Given the description of an element on the screen output the (x, y) to click on. 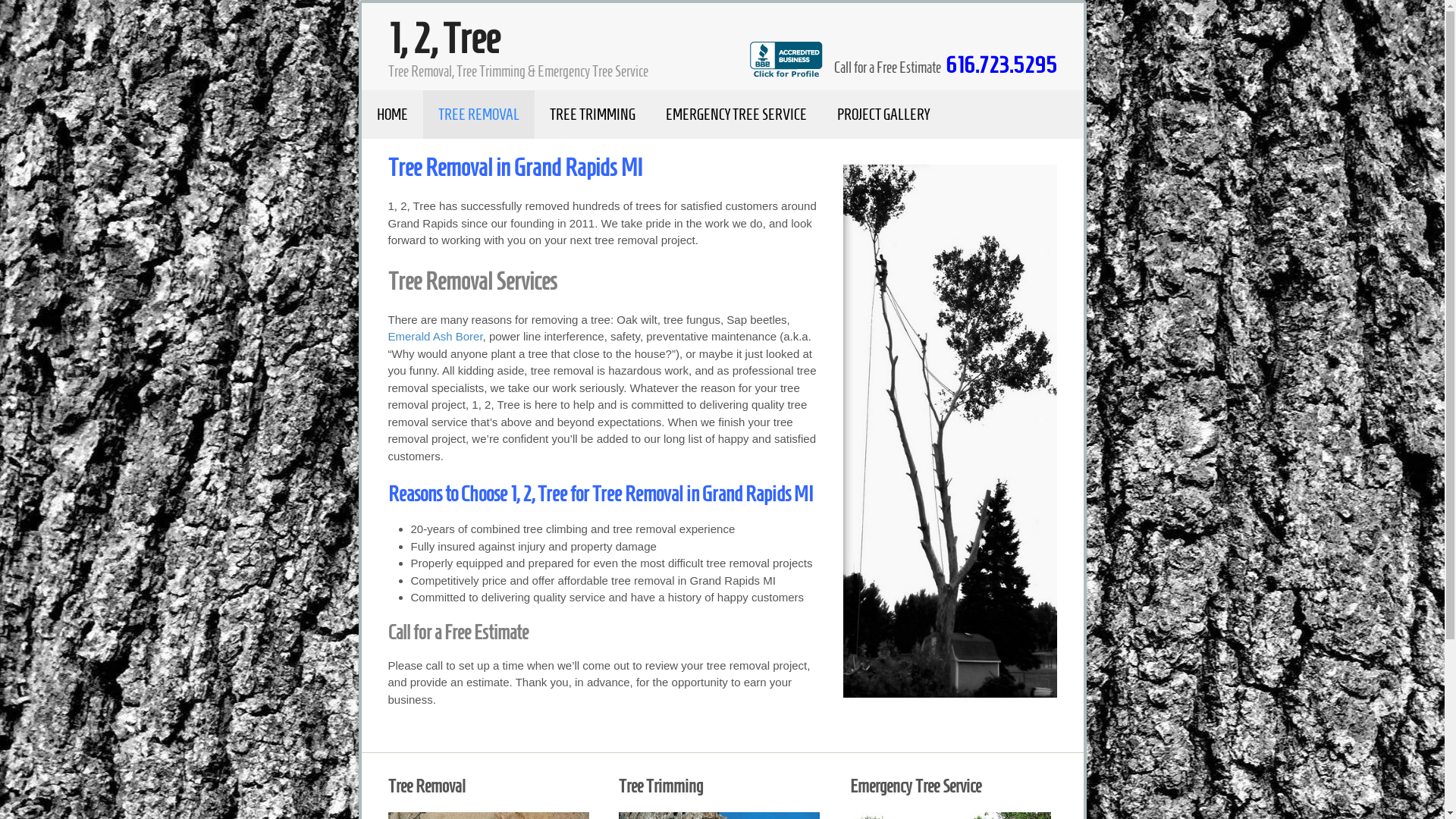
PROJECT GALLERY Element type: text (883, 114)
1, 2, Tree Element type: text (443, 38)
HOME Element type: text (391, 114)
BBB Review of 1, 2, Tree in Grand Rapids MI Element type: hover (791, 67)
TREE TRIMMING Element type: text (591, 114)
TREE REMOVAL Element type: text (478, 114)
EMERGENCY TREE SERVICE Element type: text (736, 114)
Emerald Ash Borer Element type: text (435, 335)
